Given the description of an element on the screen output the (x, y) to click on. 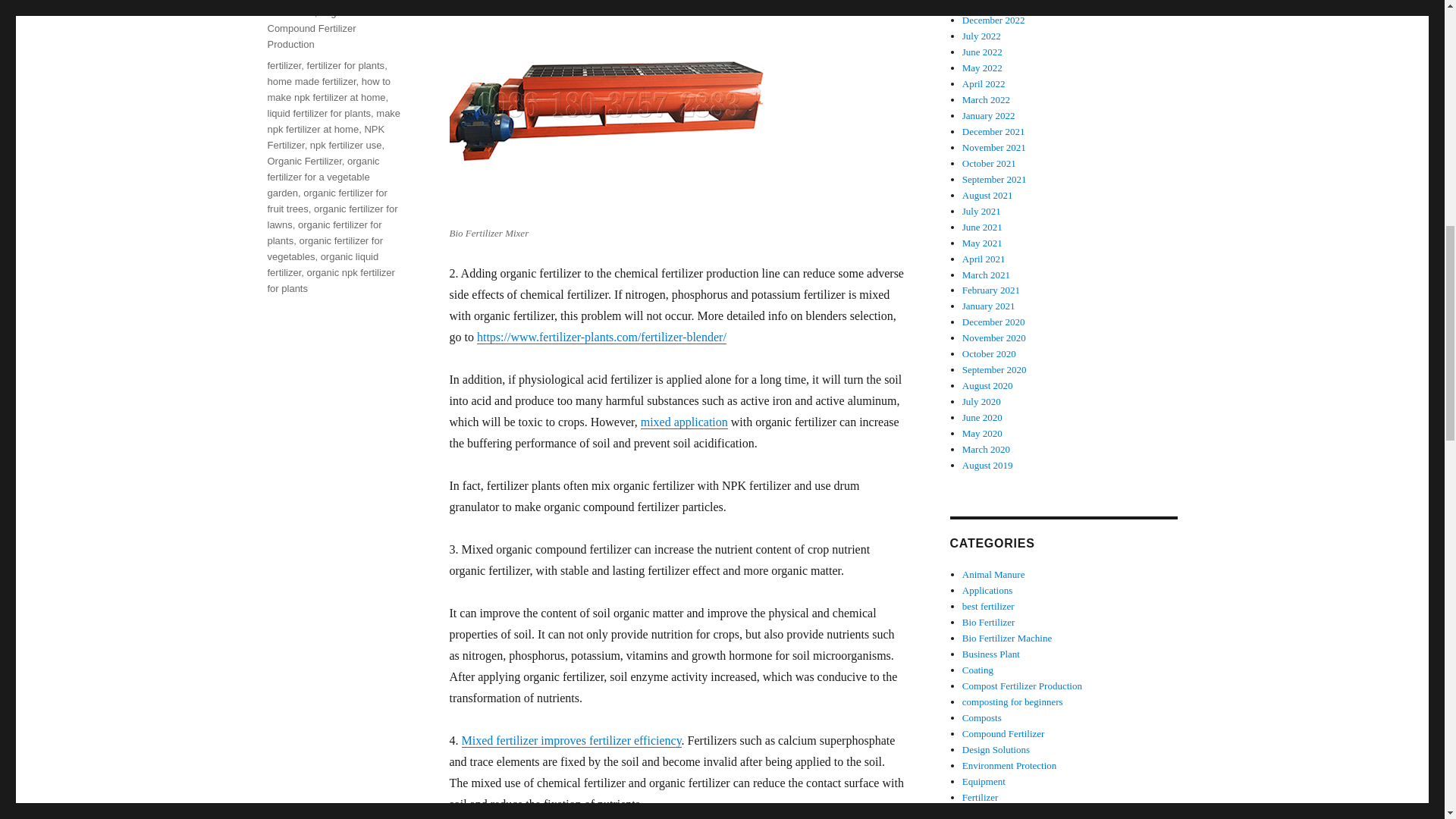
make npk fertilizer at home (333, 121)
fertilizer for plants (331, 1)
NPK Fertilizer (325, 136)
fertilizer (283, 65)
Mixed fertilizer improves fertilizer efficiency (571, 739)
Organic Compound Fertilizer Production (310, 27)
mixed application (684, 421)
liquid fertilizer for plants (318, 112)
fertilizer for plants (346, 65)
how to make npk fertilizer at home (328, 89)
